Given the description of an element on the screen output the (x, y) to click on. 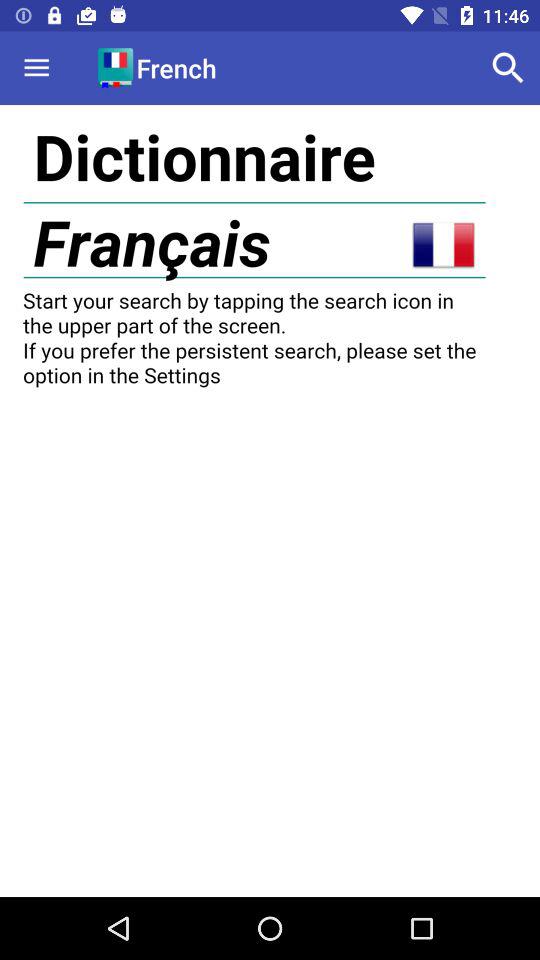
display screen (270, 501)
